Given the description of an element on the screen output the (x, y) to click on. 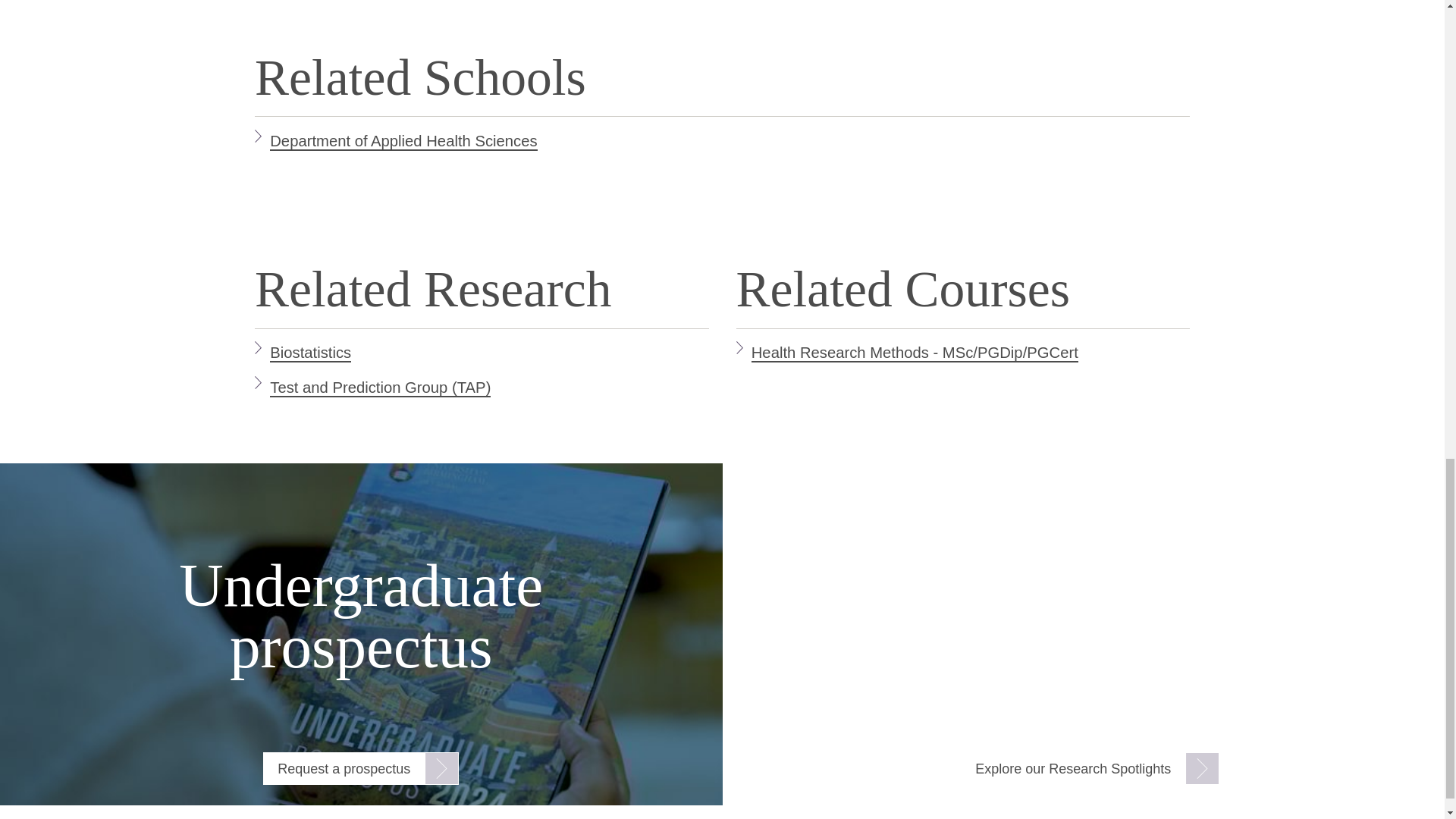
Department of Applied Health Sciences (403, 141)
Request a prospectus (360, 768)
Explore our Research Spotlights (1090, 768)
Biostatistics (309, 352)
